Given the description of an element on the screen output the (x, y) to click on. 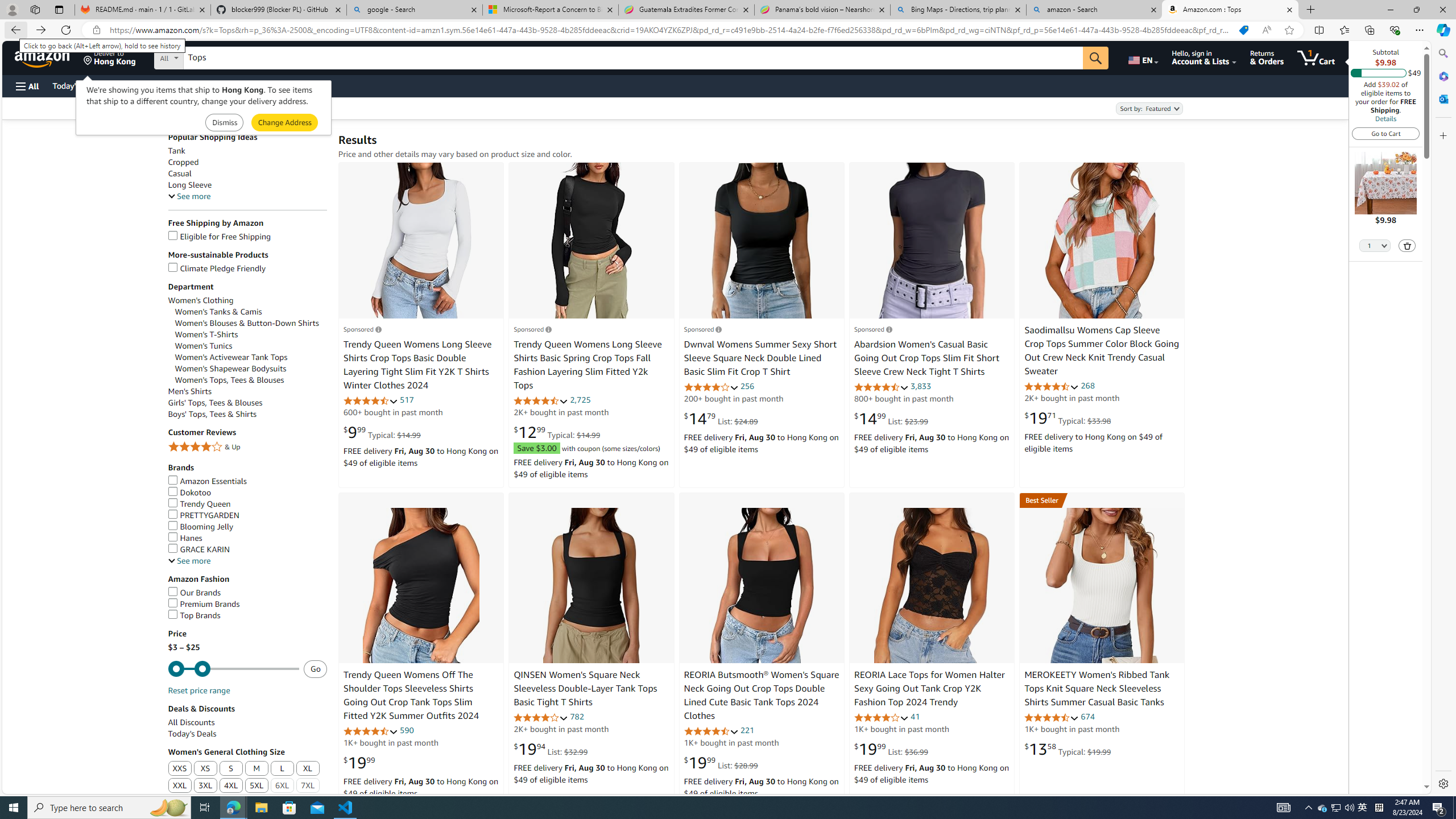
All Discounts (191, 722)
4.3 out of 5 stars (370, 730)
Open Menu (26, 86)
S (230, 768)
XL (307, 769)
